Given the description of an element on the screen output the (x, y) to click on. 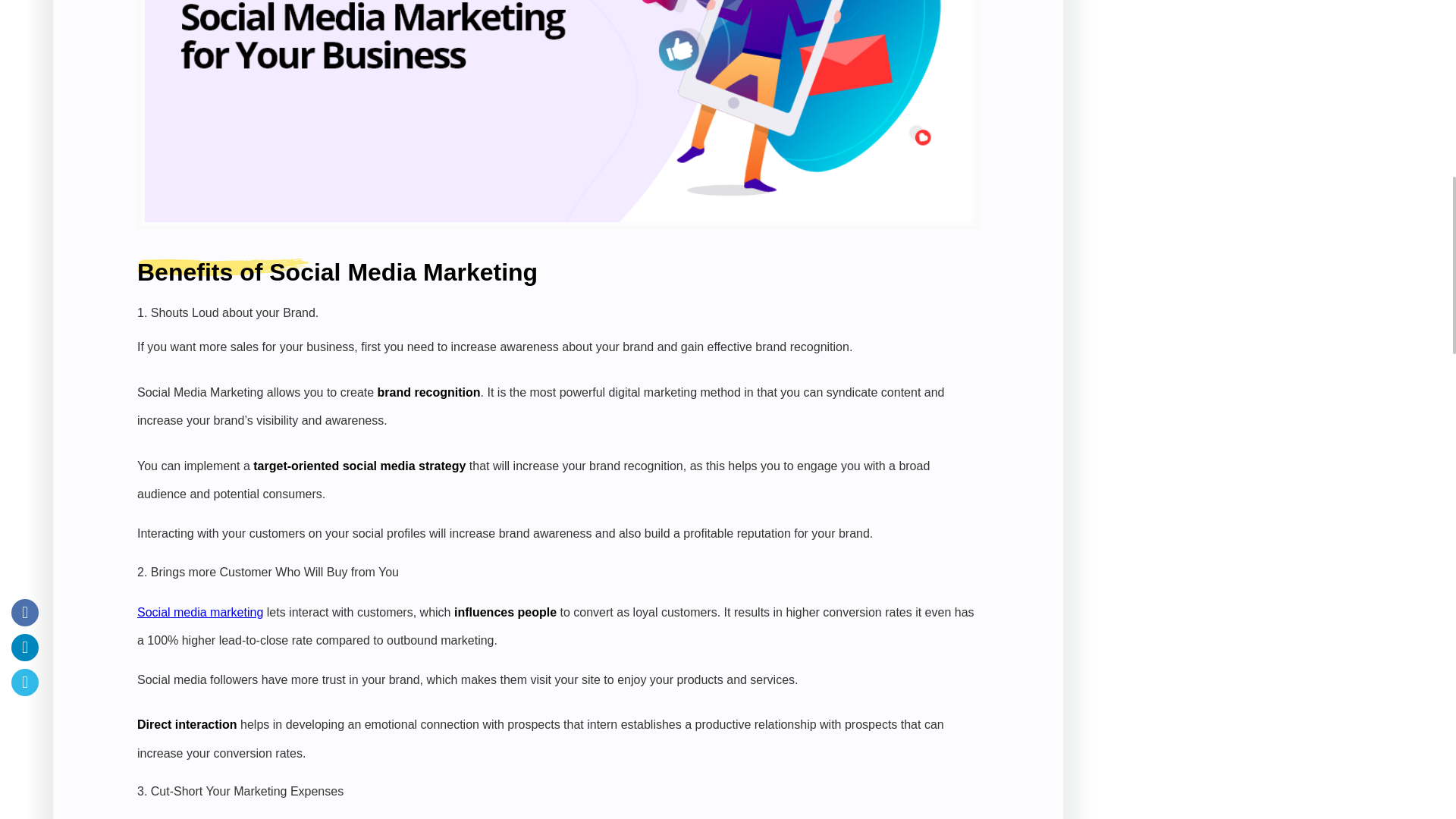
Social media marketing (199, 611)
